Given the description of an element on the screen output the (x, y) to click on. 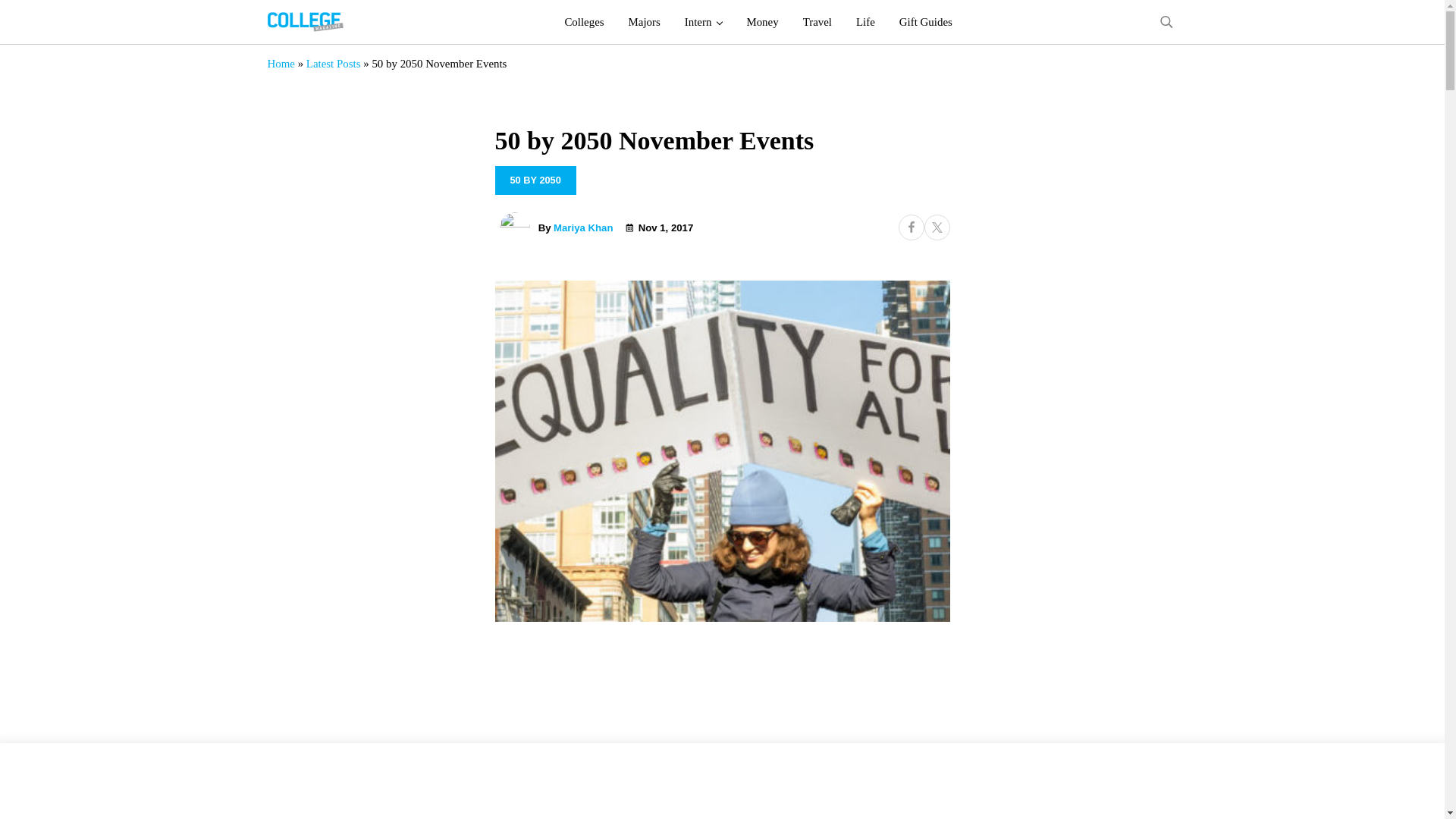
Life (865, 21)
Majors (643, 21)
Money (761, 21)
Gift Guides (924, 21)
Intern (703, 21)
Share on Twitter (936, 227)
Share on Facebook (910, 227)
Colleges (583, 21)
Travel (817, 21)
